Given the description of an element on the screen output the (x, y) to click on. 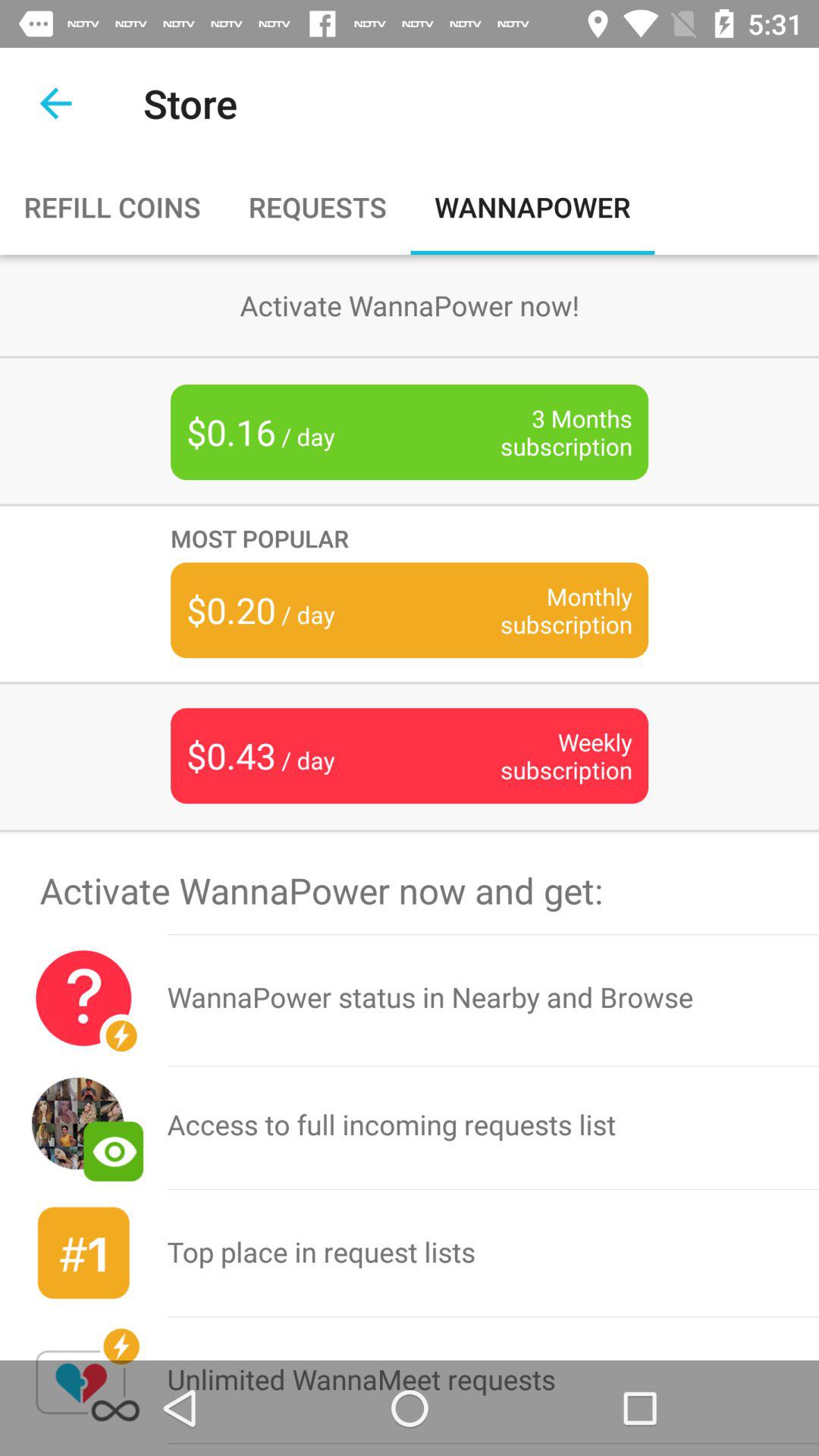
click item below activate wannapower now icon (493, 997)
